Given the description of an element on the screen output the (x, y) to click on. 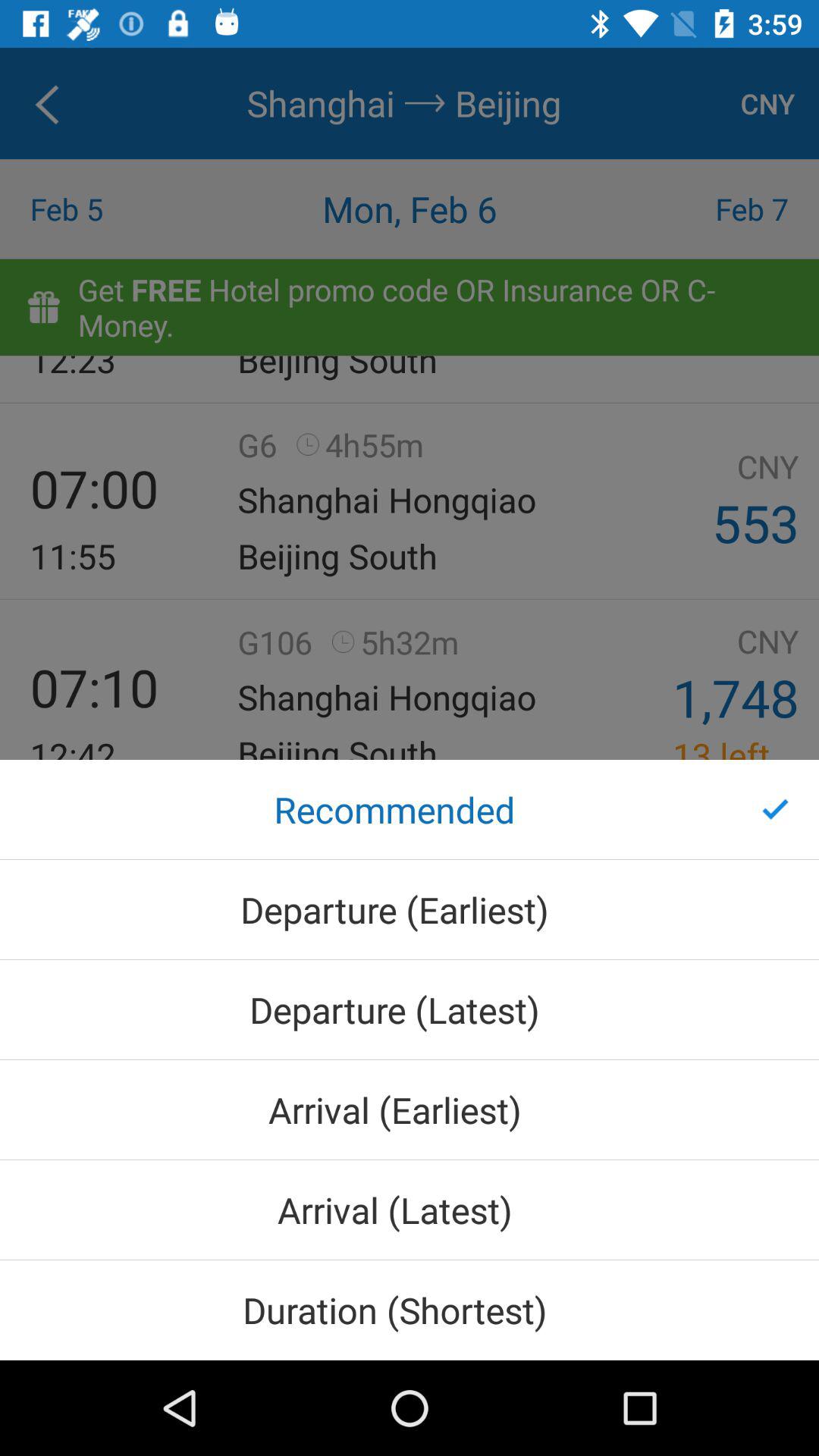
flip until the arrival (latest) item (409, 1209)
